Given the description of an element on the screen output the (x, y) to click on. 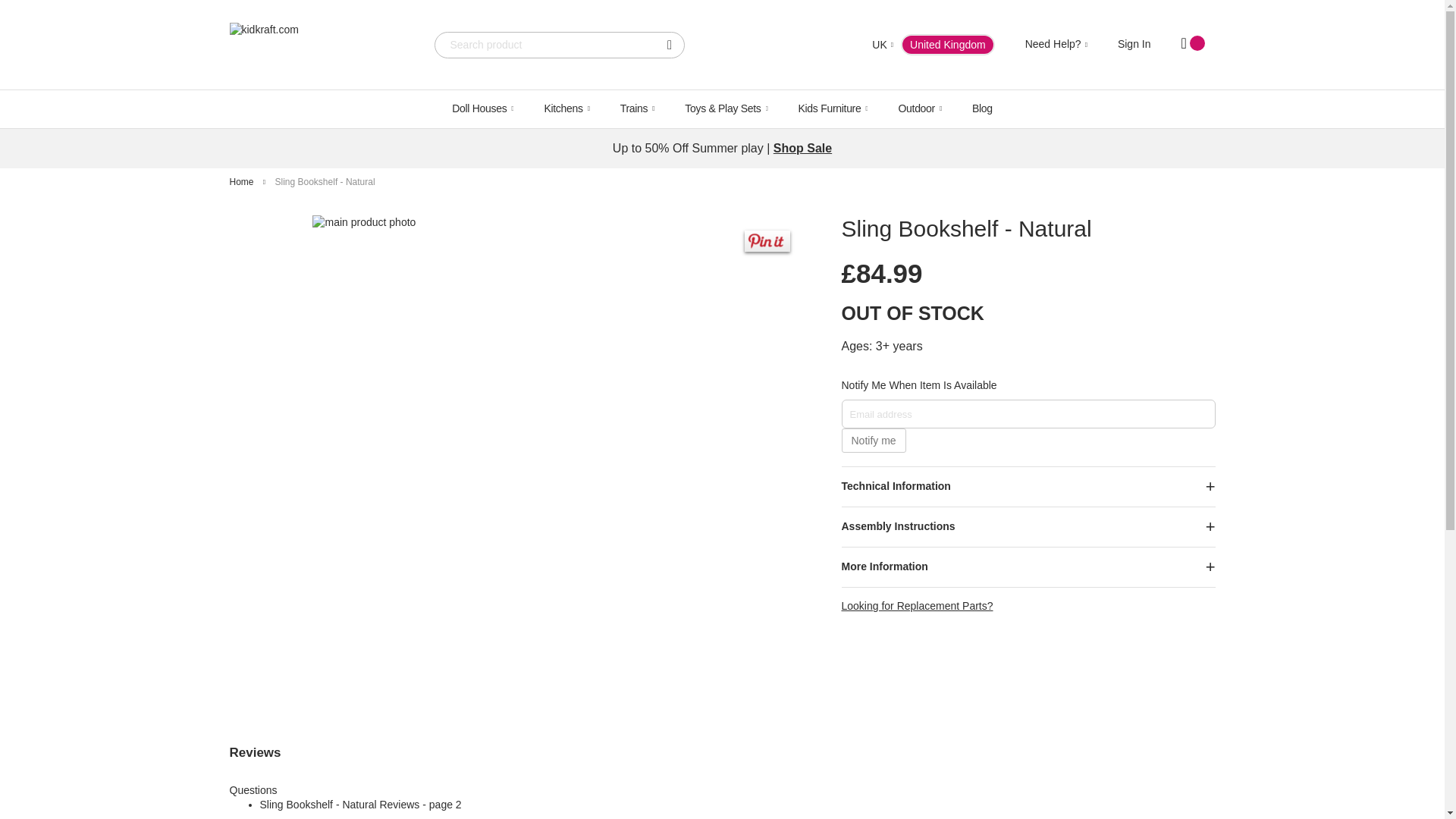
kidkraft.com (315, 44)
Need Help? (1056, 44)
UK (874, 45)
Kitchens Menu (566, 108)
Outdoor Menu (919, 108)
Trains Menu (637, 108)
Doll Houses (482, 108)
Sign In (1134, 43)
United Kingdom (861, 44)
My Cart (1192, 45)
